Given the description of an element on the screen output the (x, y) to click on. 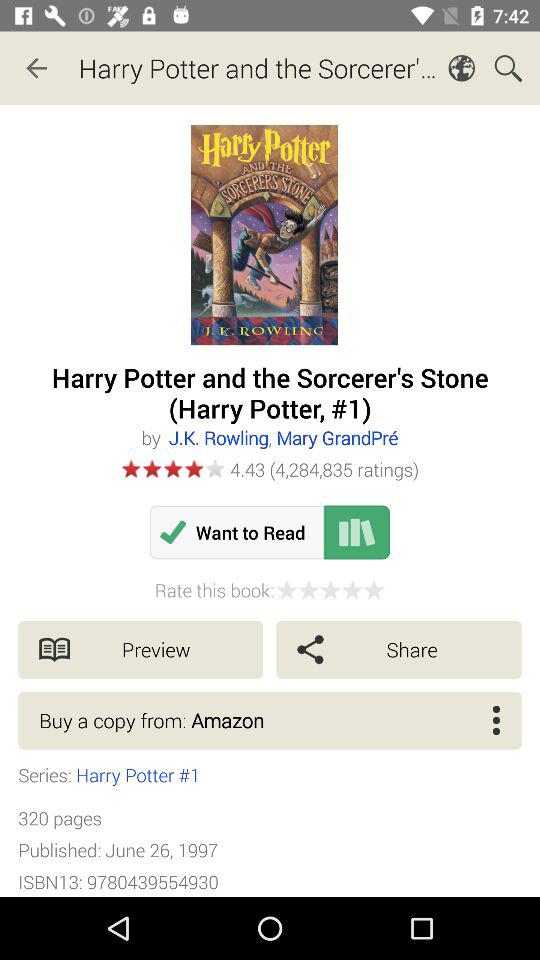
select the icon to the left of the harry potter and icon (36, 68)
